Given the description of an element on the screen output the (x, y) to click on. 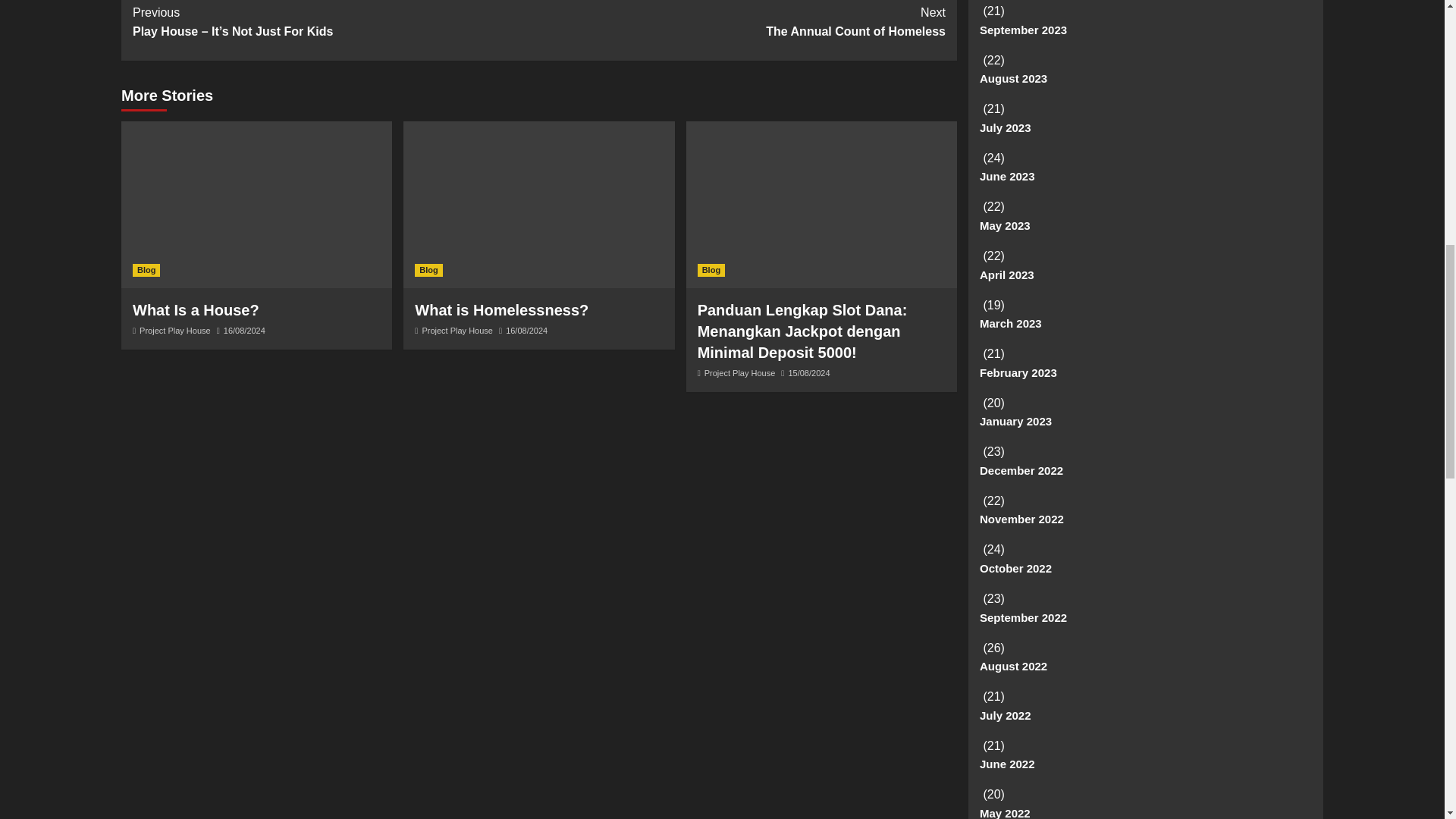
What is Homelessness? (501, 310)
Blog (428, 269)
Project Play House (741, 22)
Blog (457, 329)
Project Play House (711, 269)
What Is a House? (175, 329)
Project Play House (195, 310)
